Given the description of an element on the screen output the (x, y) to click on. 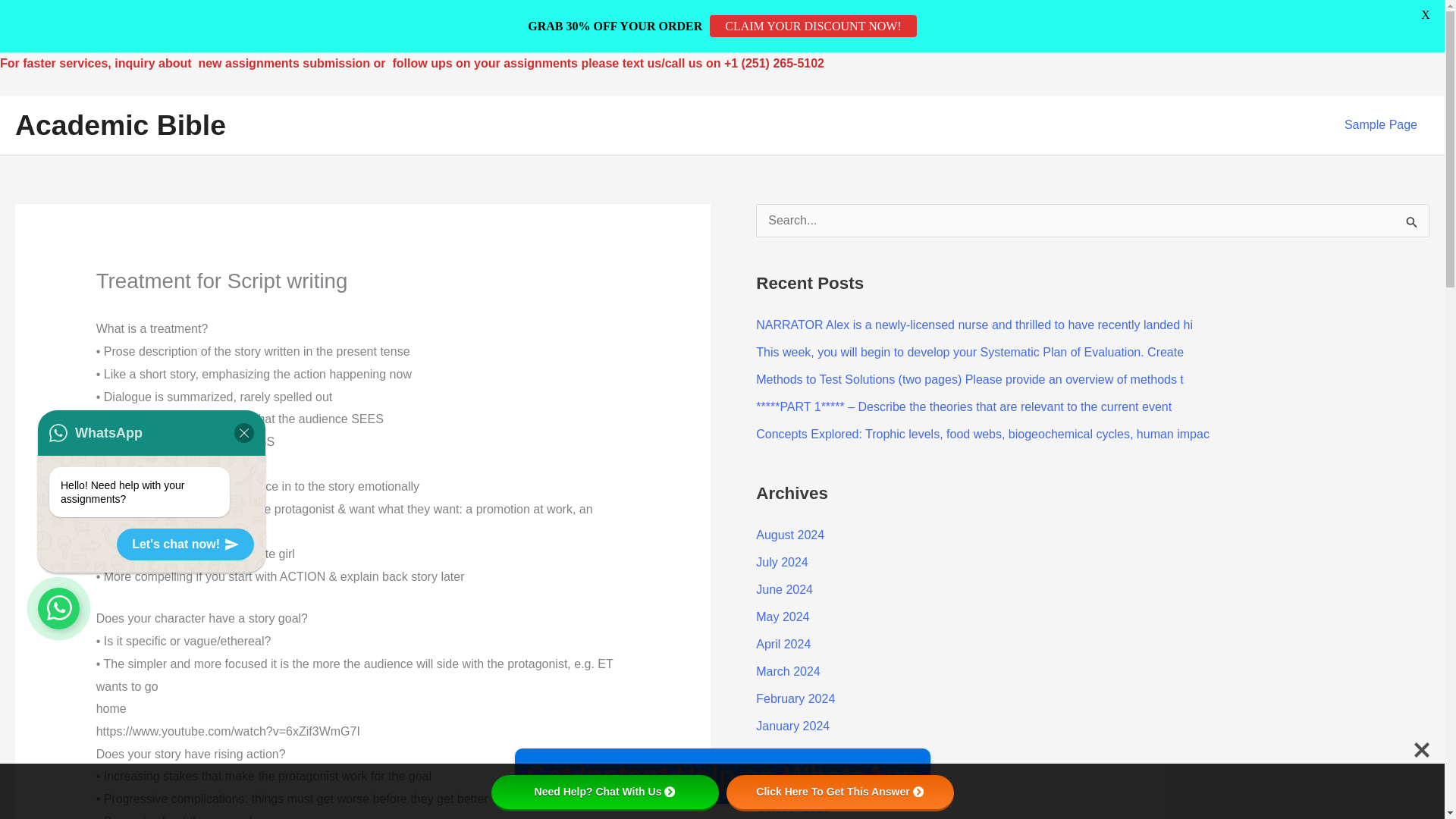
Get Instant Help on WhatsApp (721, 775)
July 2024 (781, 562)
May 2024 (782, 616)
August 2024 (789, 534)
February 2024 (794, 698)
Academic Bible (119, 124)
November 2023 (799, 780)
Sample Page (1380, 124)
